Given the description of an element on the screen output the (x, y) to click on. 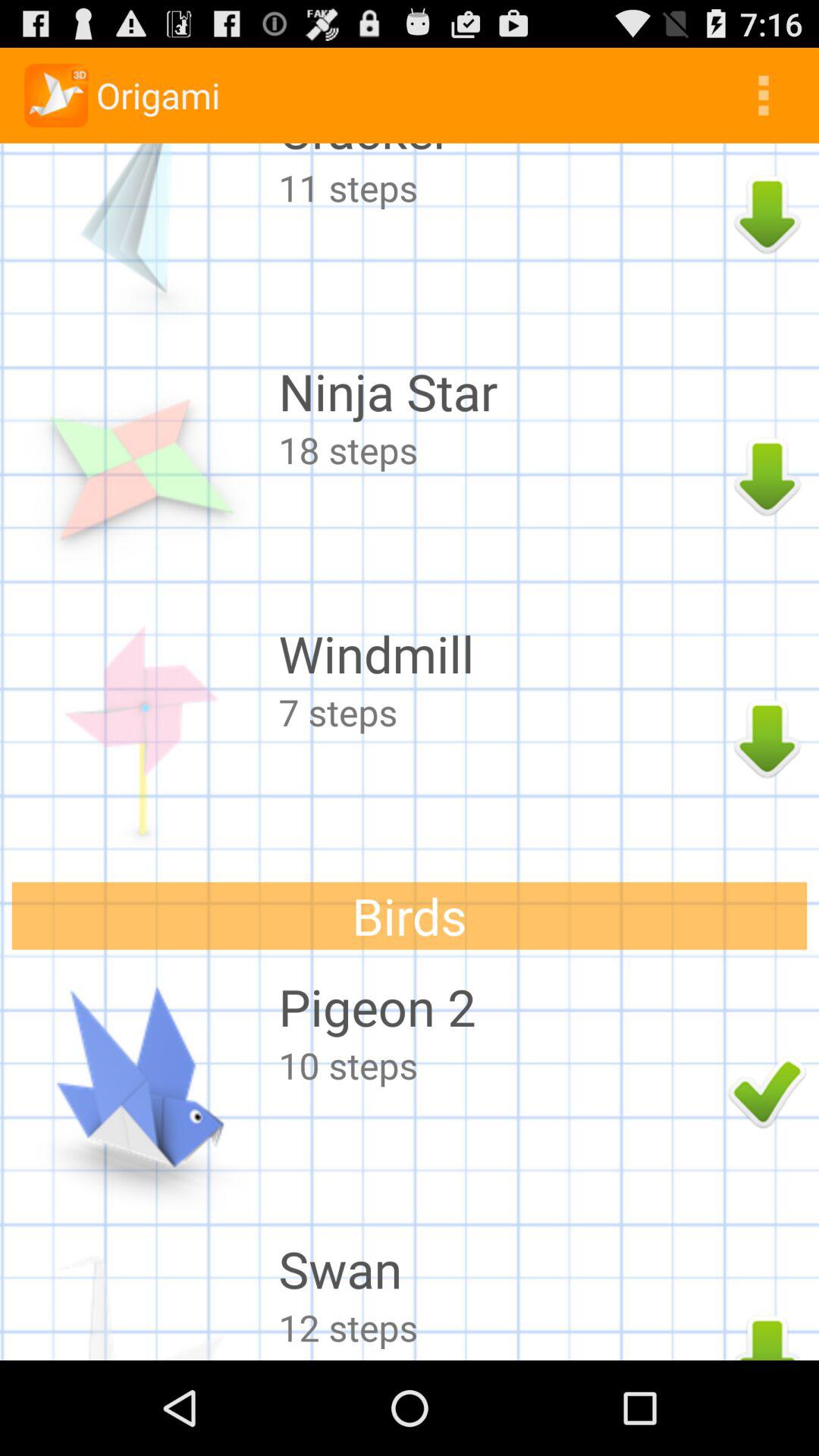
turn on the item above the swan item (498, 1064)
